Given the description of an element on the screen output the (x, y) to click on. 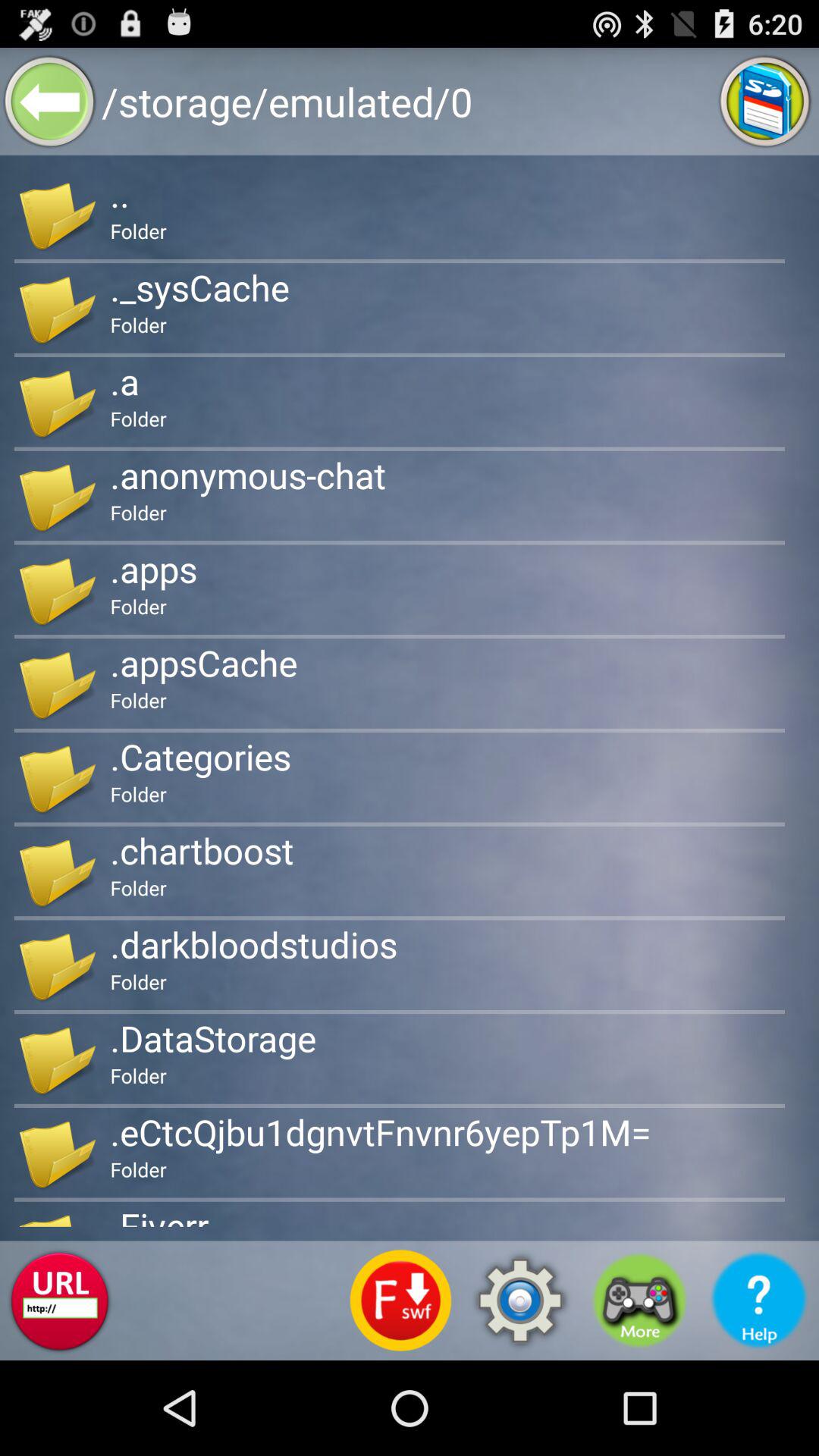
turn off icon below the .ectcqjbu1dgnvtfnvnr6yeptp1m= icon (639, 1300)
